Given the description of an element on the screen output the (x, y) to click on. 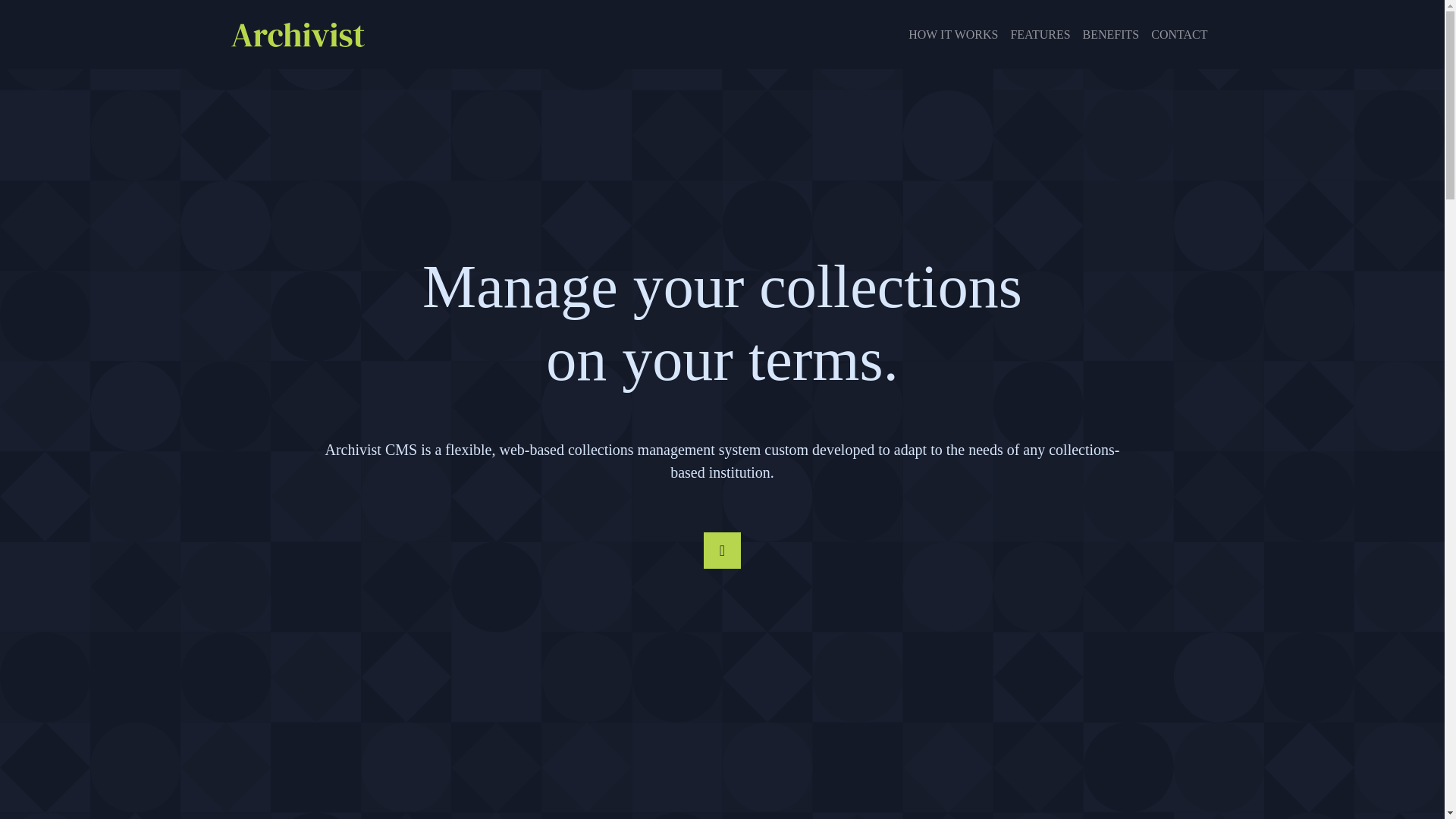
BENEFITS (1111, 34)
CONTACT (1178, 34)
FEATURES (1039, 34)
HOW IT WORKS (953, 34)
